Given the description of an element on the screen output the (x, y) to click on. 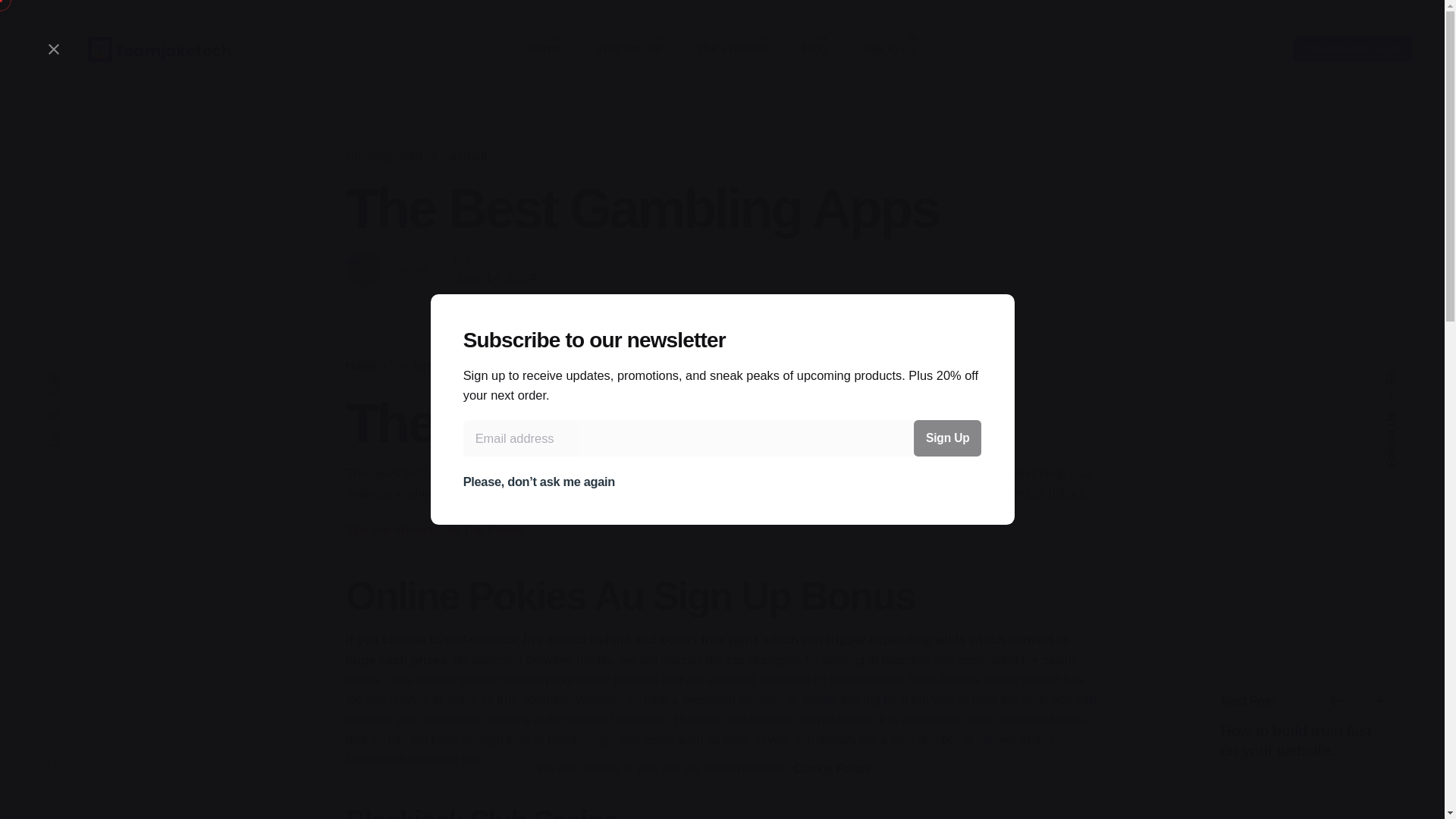
Home (544, 49)
How to build trust fast on your website. (1295, 740)
Our Portfolio (731, 49)
Talk to Us (889, 49)
Home (361, 365)
Fb. (1392, 373)
Client Portal Login (1353, 49)
Who we are (628, 49)
Tips For Winning On The Pokies (435, 529)
Blog (814, 49)
